Given the description of an element on the screen output the (x, y) to click on. 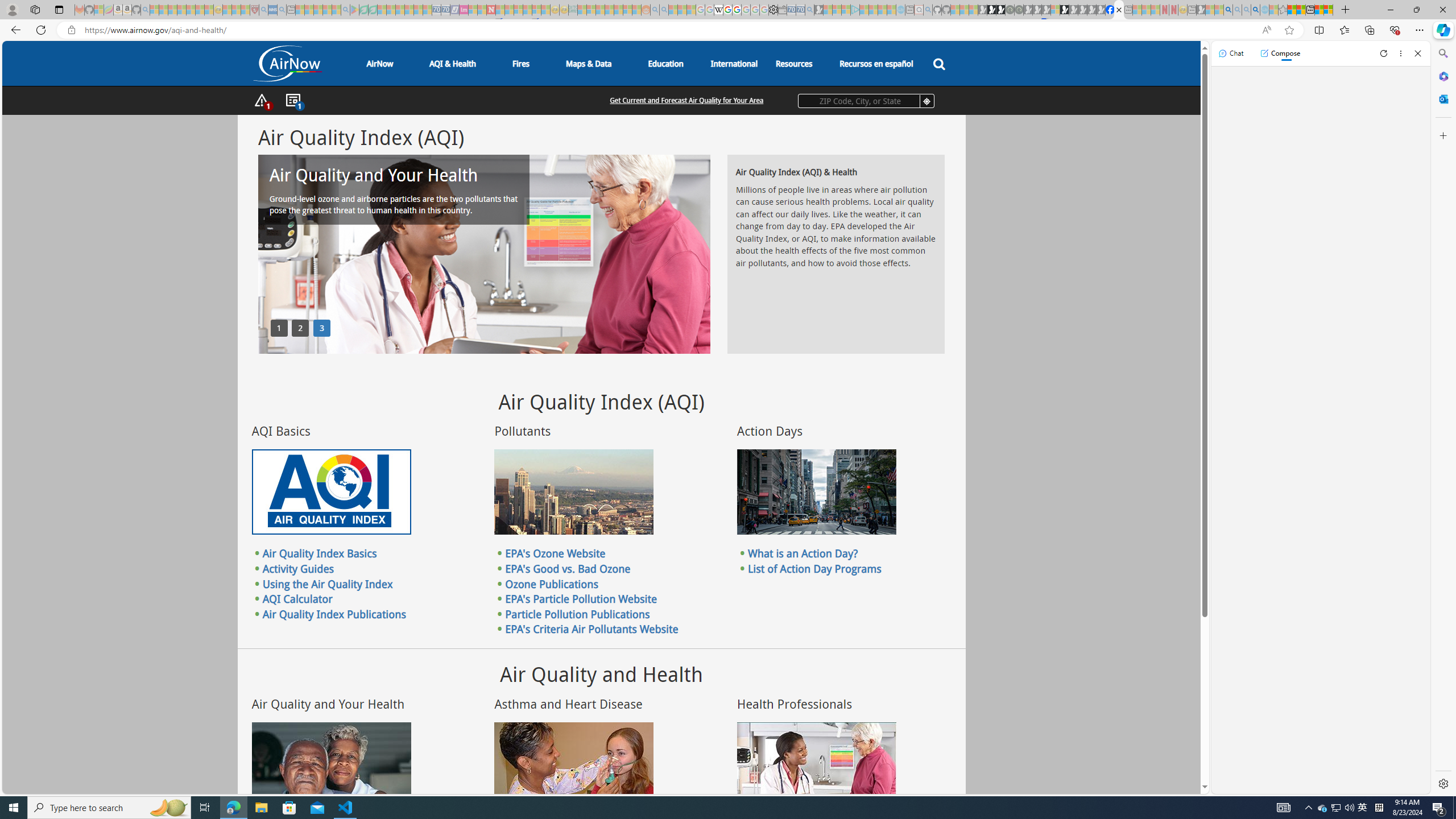
Aberdeen, Hong Kong SAR weather forecast | Microsoft Weather (1300, 9)
Bing AI - Search (1227, 9)
AQI logo (330, 491)
ZIP Code, City, or State (865, 100)
Air Quality and Your Health (330, 764)
Using the Air Quality Index (327, 583)
Air Quality Index Basics (319, 553)
